Given the description of an element on the screen output the (x, y) to click on. 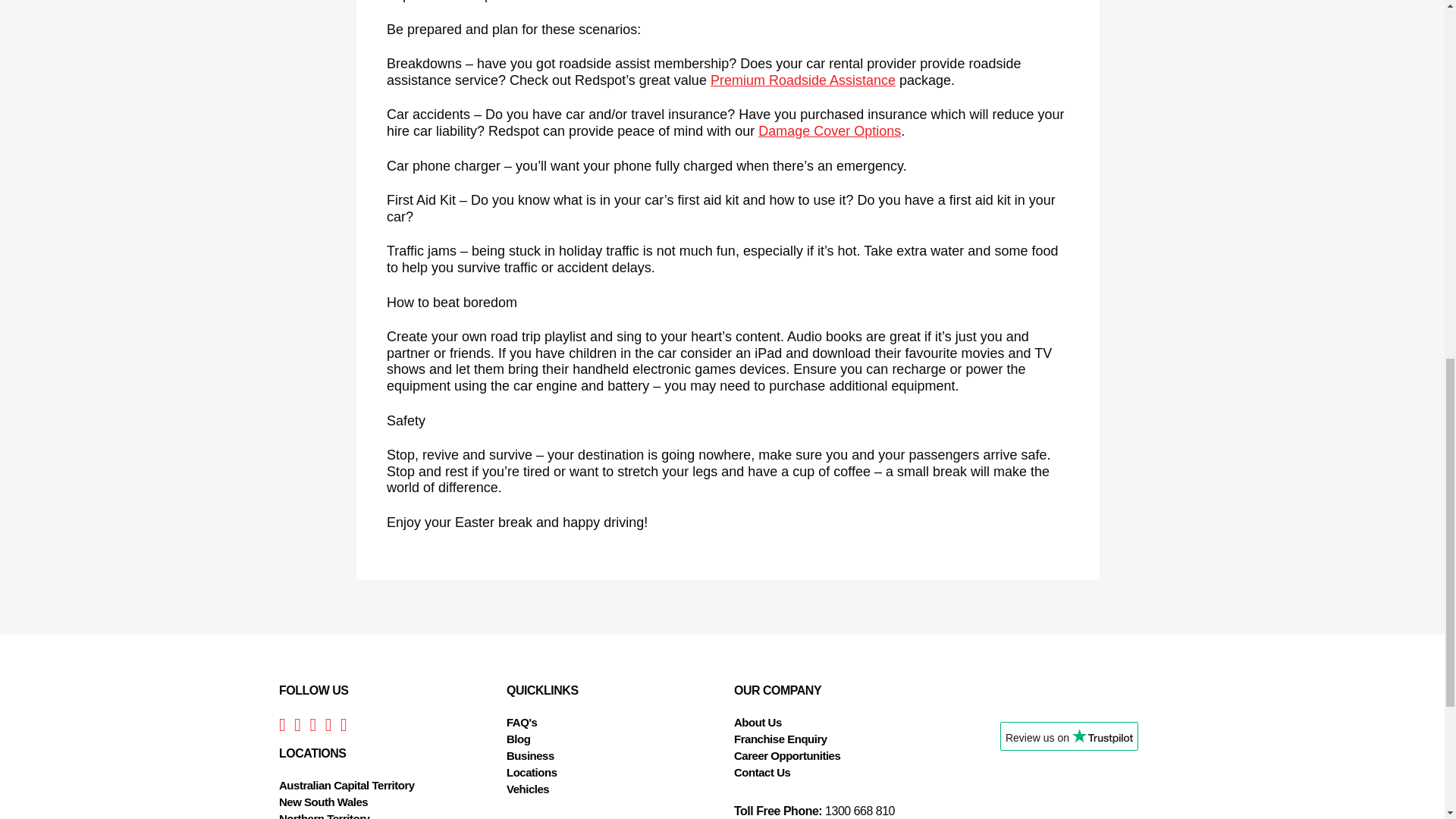
Northern Territory (324, 815)
Customer reviews powered by Trustpilot (1068, 741)
Premium Roadside Assistance (802, 79)
Damage Cover Options (829, 130)
Australian Capital Territory (346, 784)
New South Wales (323, 801)
